Given the description of an element on the screen output the (x, y) to click on. 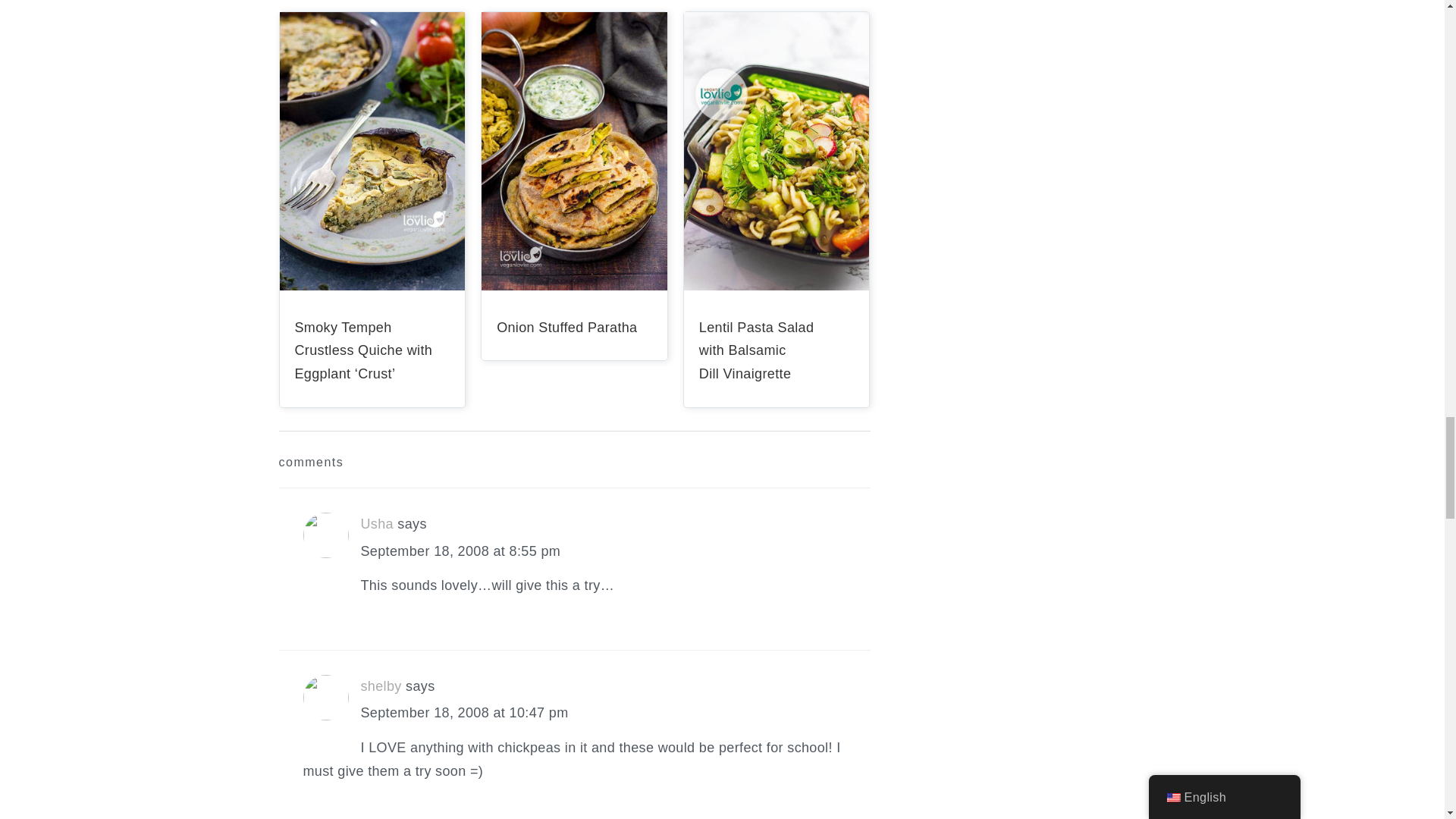
Permanent Link to Onion Stuffed Paratha (573, 285)
Permanent Link to Onion Stuffed Paratha (566, 327)
